Given the description of an element on the screen output the (x, y) to click on. 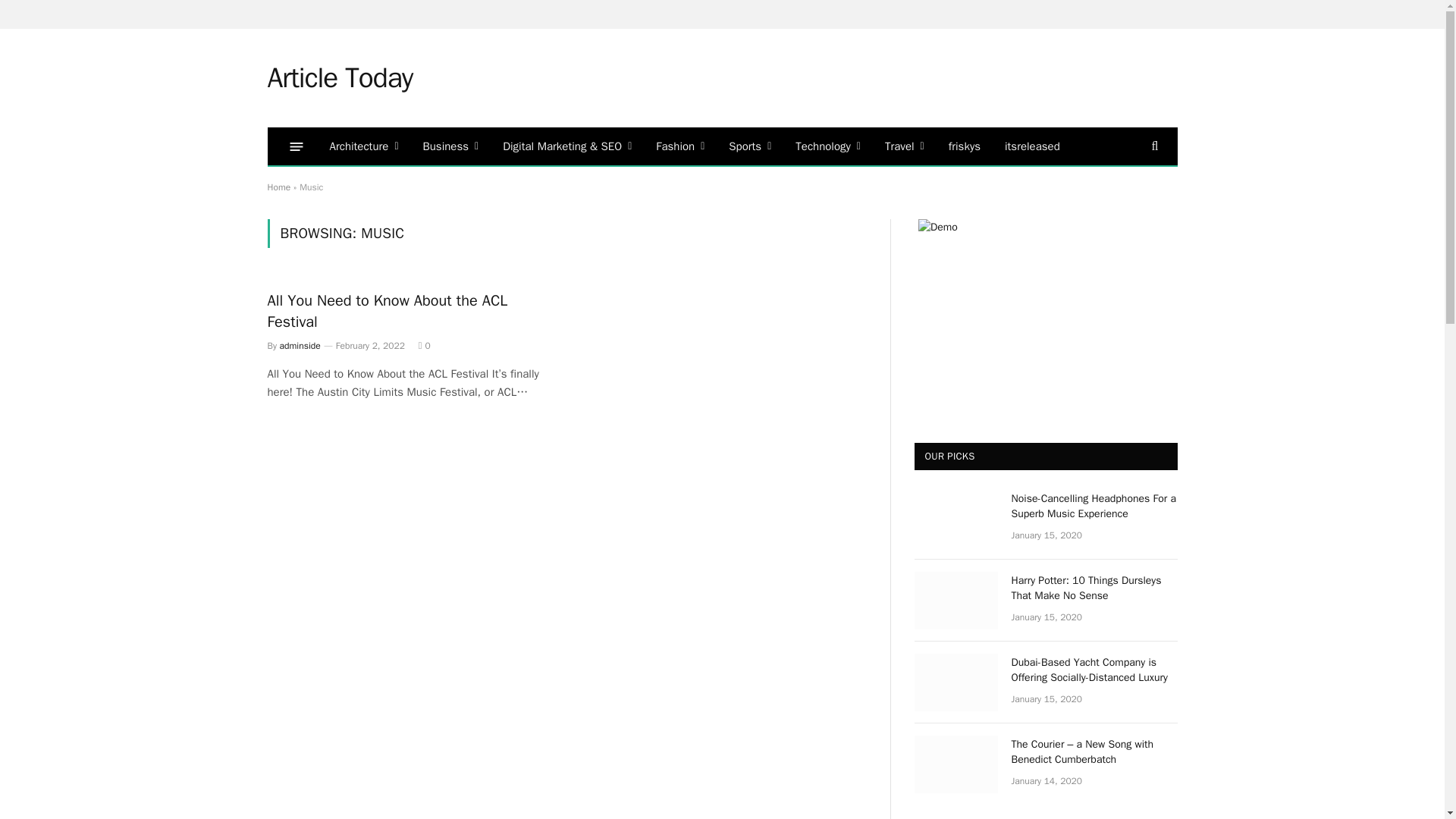
Posts by adminside (299, 345)
Harry Potter: 10 Things Dursleys That Make No Sense (955, 600)
Noise-Cancelling Headphones For a Superb Music Experience (955, 518)
Article Today (339, 77)
